Given the description of an element on the screen output the (x, y) to click on. 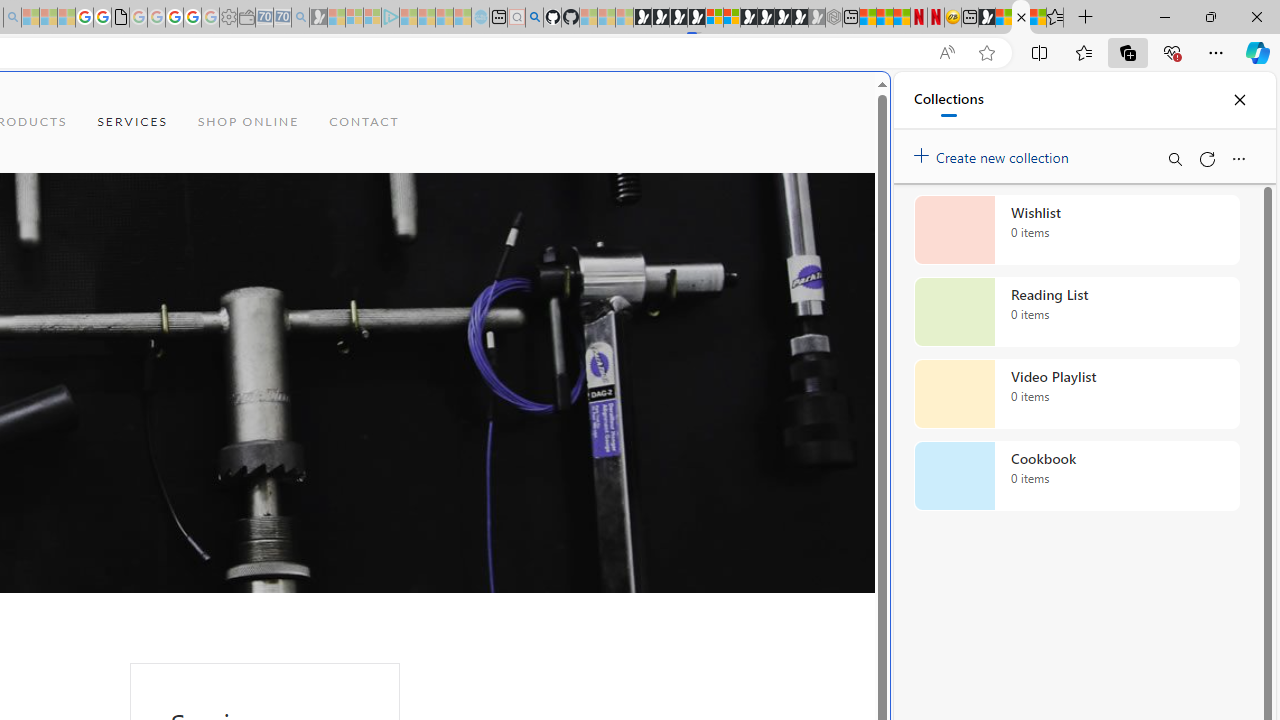
github - Search (534, 17)
Create new collection (994, 153)
Reading List collection, 0 items (1076, 312)
